Given the description of an element on the screen output the (x, y) to click on. 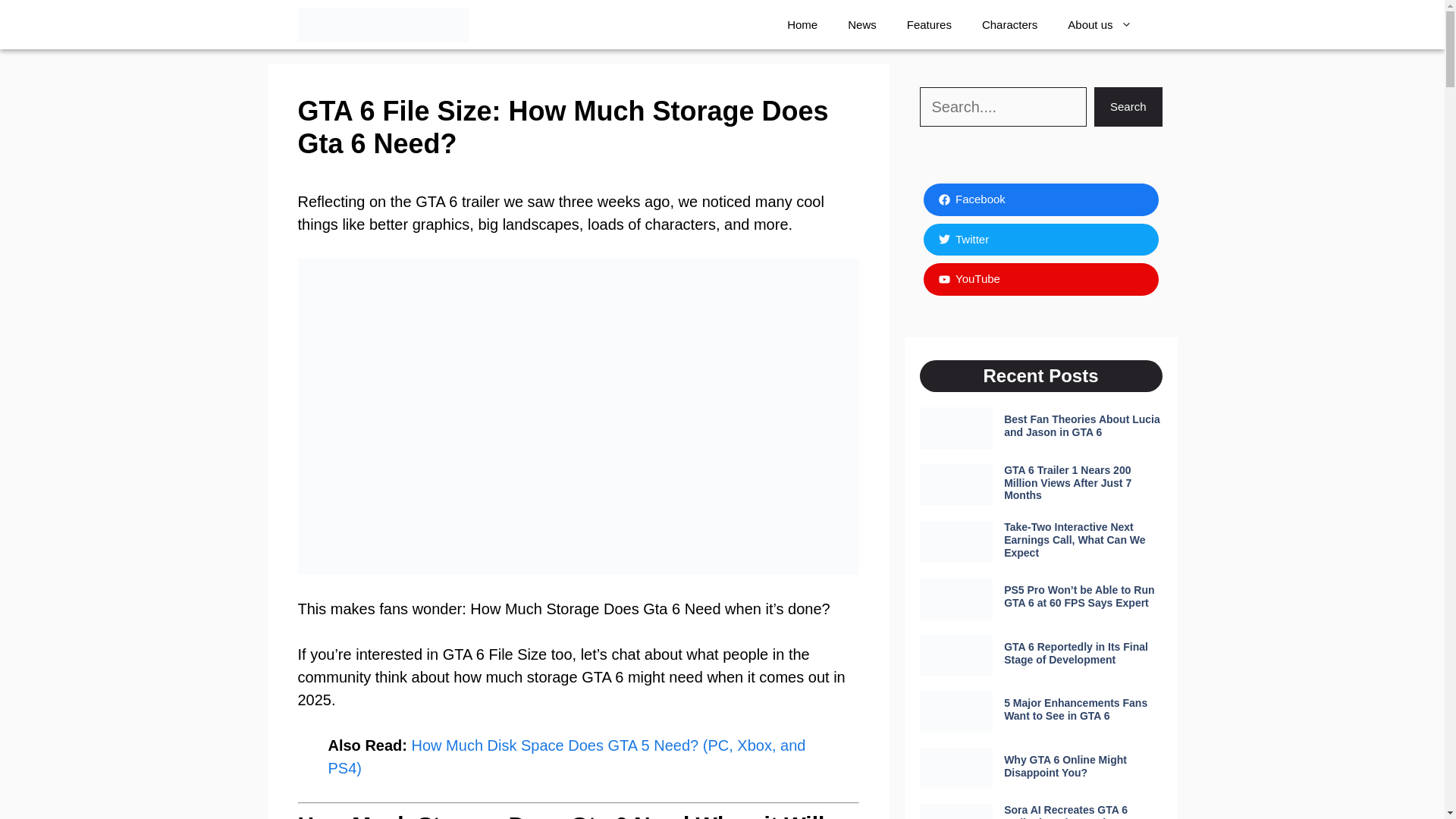
Why GTA 6 Online Might Disappoint You? (1065, 765)
GTA 6 Trailer 1 Nears 200 Million Views After Just 7 Months (1067, 483)
5 Major Enhancements Fans Want to See in GTA 6 (1075, 708)
Twitter (1040, 238)
GTA 6 Reportedly in Its Final Stage of Development (1076, 652)
News (861, 24)
Characters (1009, 24)
Take-Two Interactive Next Earnings Call, What Can We Expect (1074, 539)
Sora AI Recreates GTA 6 Trailer in Anime Style, Is It Good? (1069, 811)
YouTube (1040, 278)
GTA 6 Guru (382, 24)
Facebook (1040, 199)
Search (1127, 106)
Best Fan Theories About Lucia and Jason in GTA 6 (1082, 425)
